Given the description of an element on the screen output the (x, y) to click on. 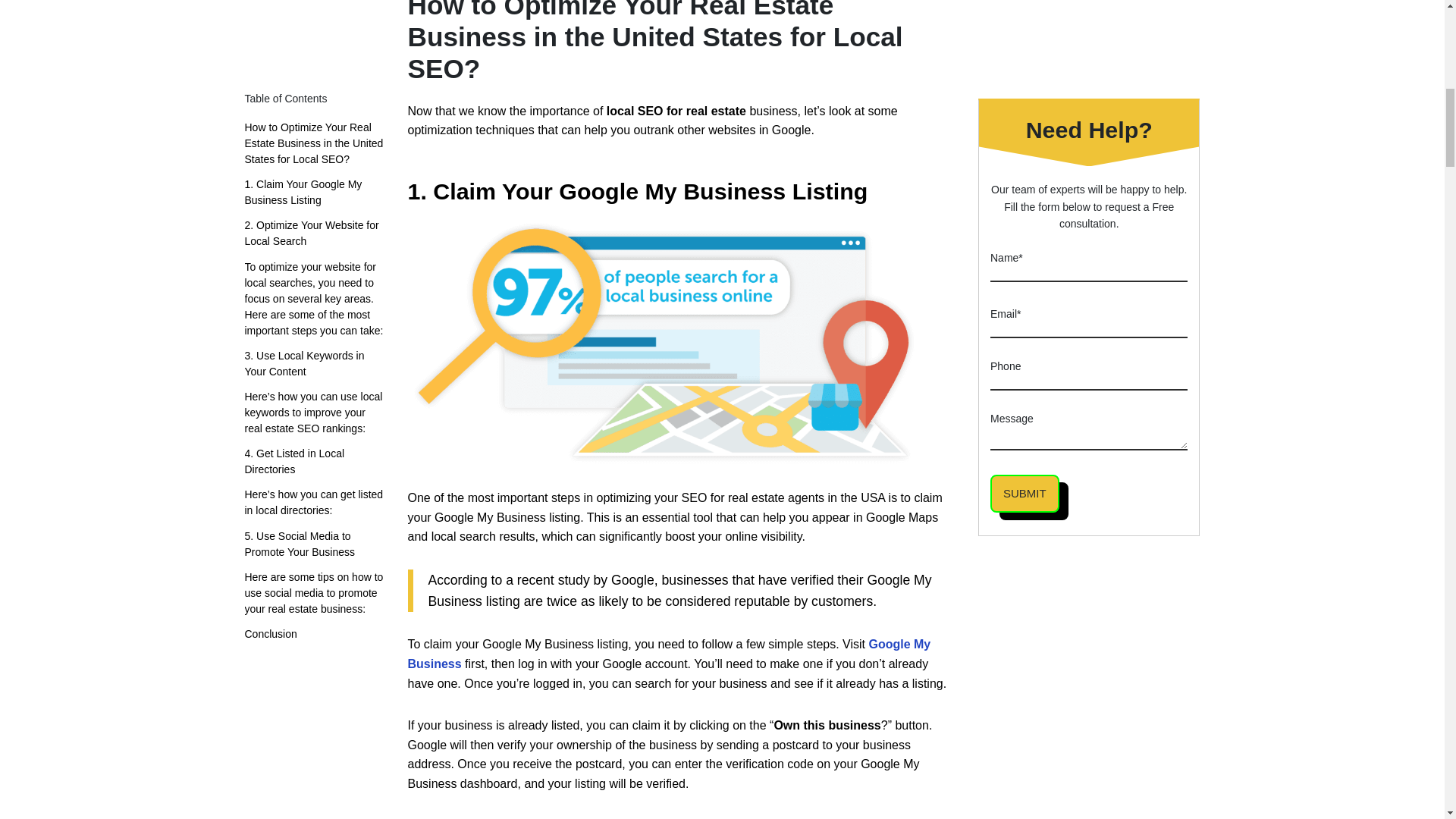
5. Use Social Media to Promote Your Business (314, 69)
4. Get Listed in Local Directories (314, 1)
Conclusion (270, 158)
Submit (1024, 13)
